Given the description of an element on the screen output the (x, y) to click on. 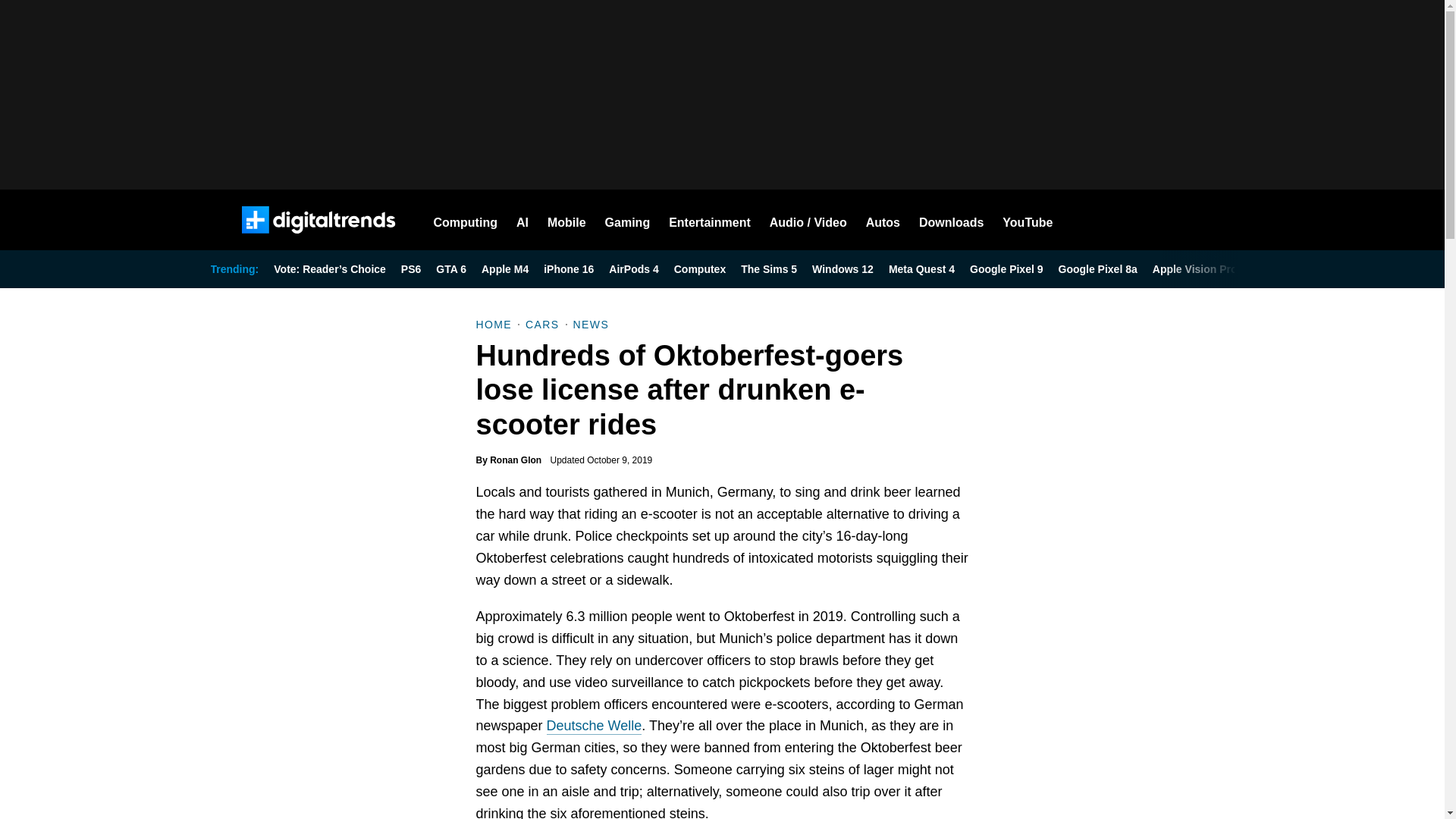
Computing (465, 219)
Entertainment (709, 219)
Downloads (951, 219)
